Given the description of an element on the screen output the (x, y) to click on. 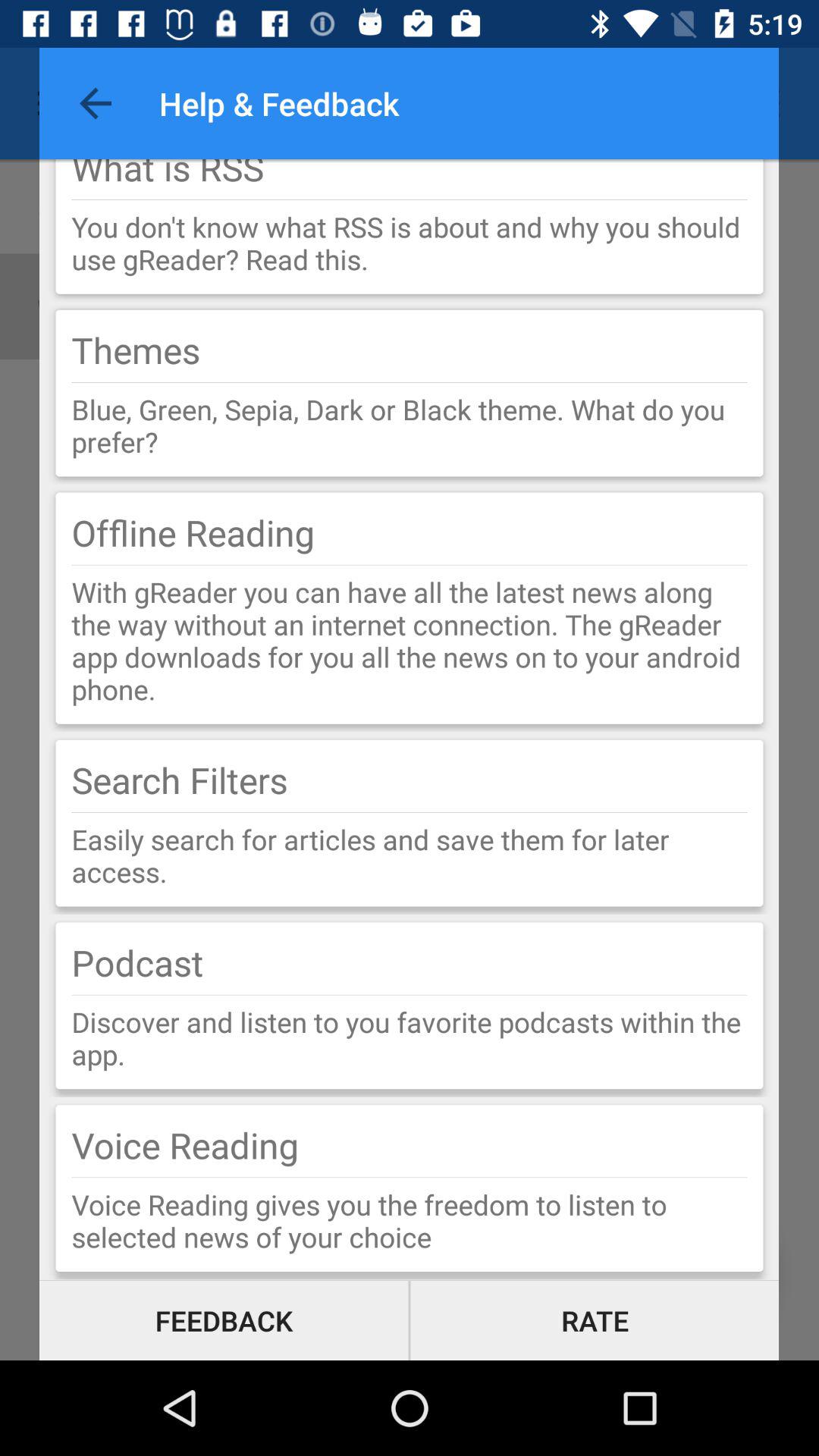
turn off the item to the left of help & feedback (95, 103)
